Given the description of an element on the screen output the (x, y) to click on. 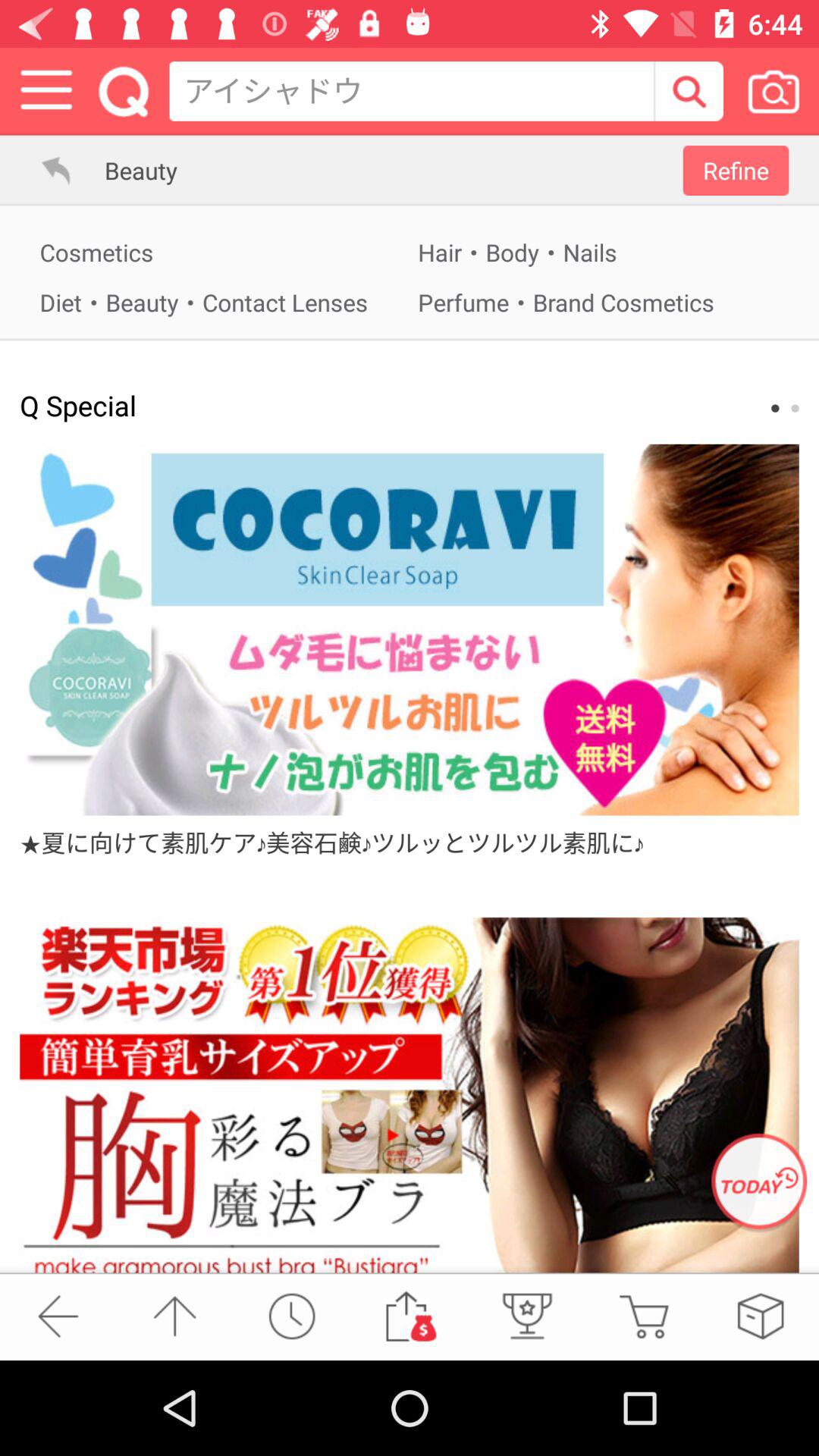
go back option (58, 1316)
